Given the description of an element on the screen output the (x, y) to click on. 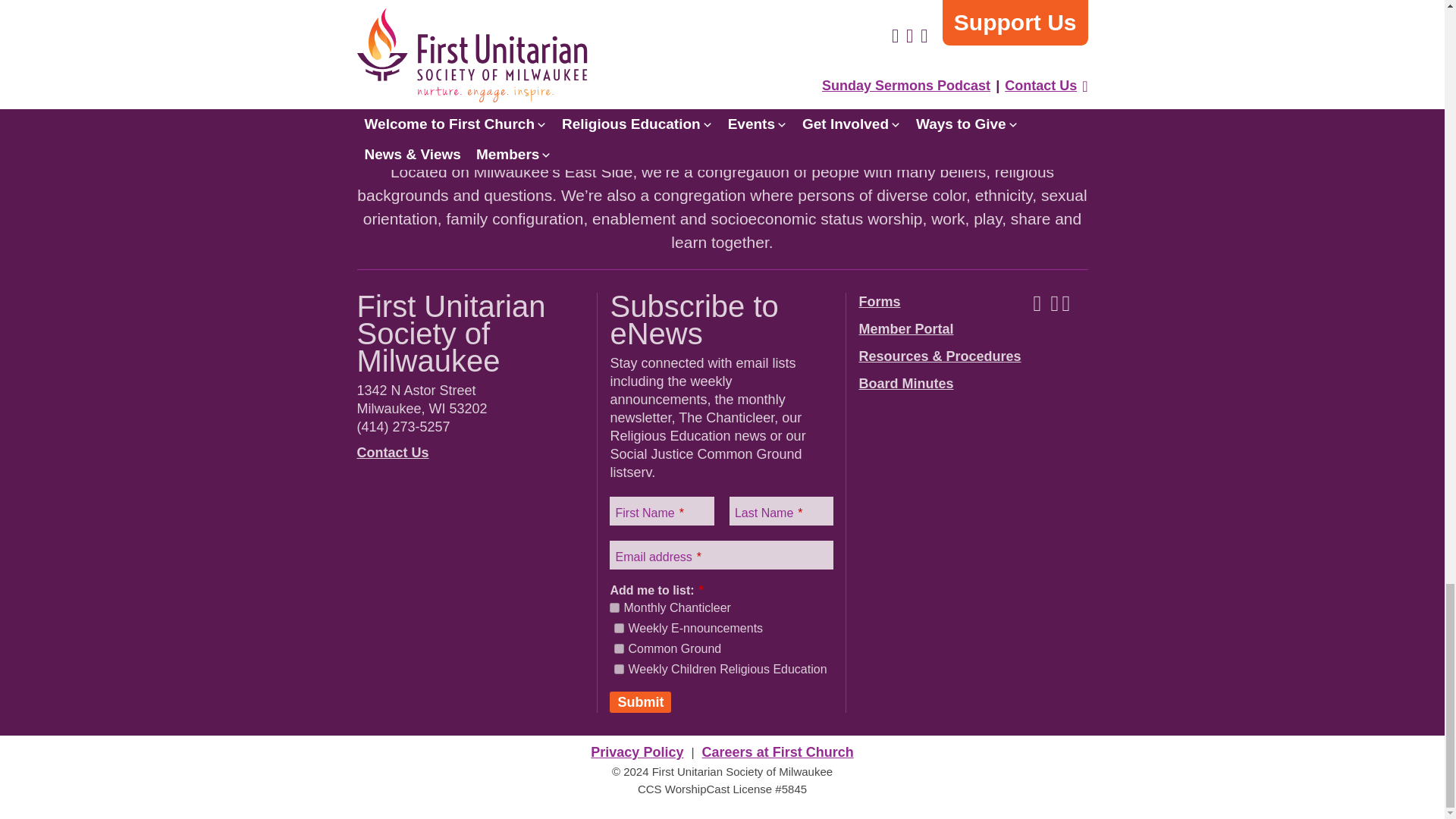
Submit (640, 701)
Common Ground (619, 648)
CRE Families (619, 669)
Chanticleer (615, 607)
E-nnouncements (619, 628)
